Given the description of an element on the screen output the (x, y) to click on. 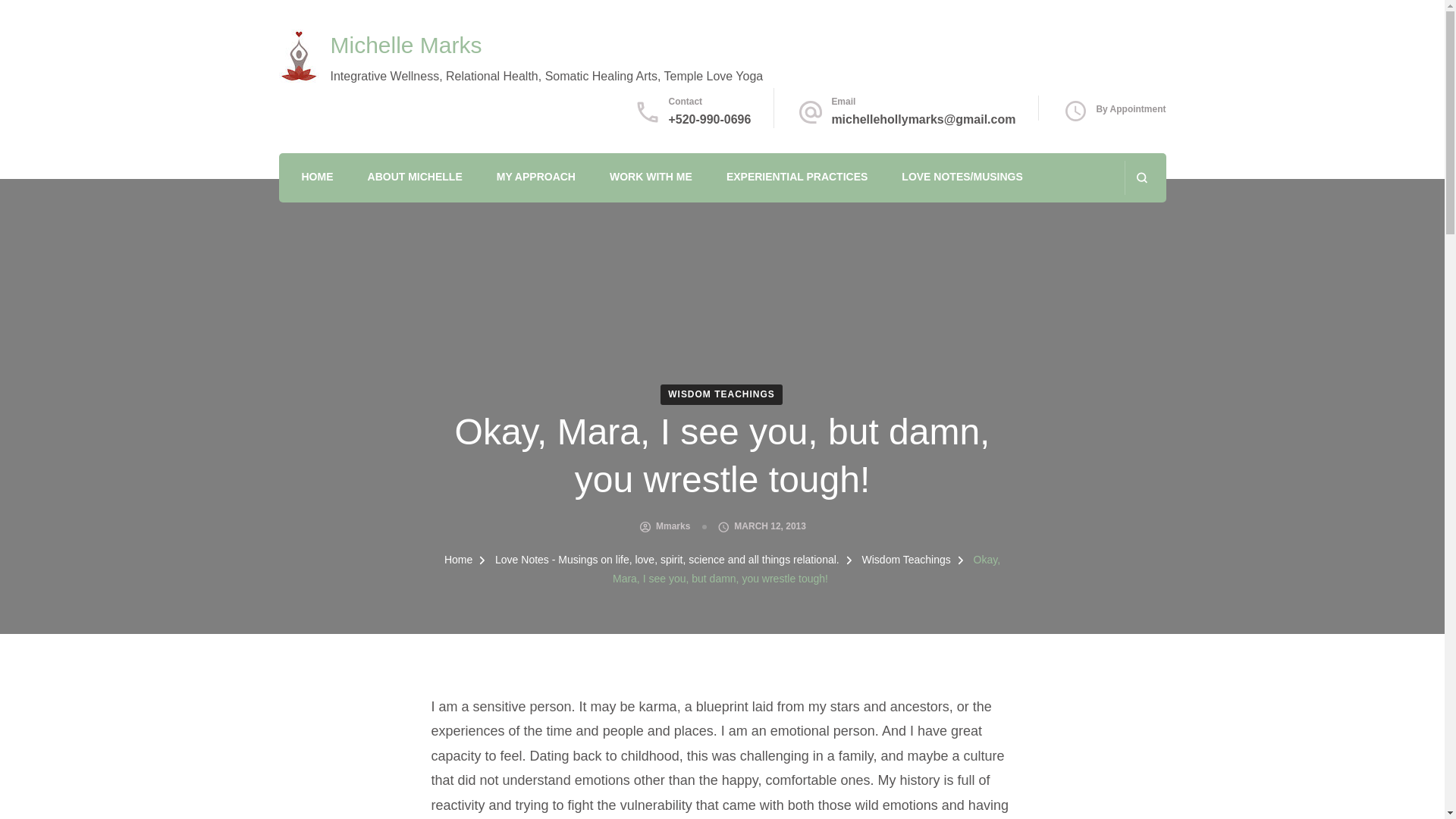
WISDOM TEACHINGS (722, 394)
Mmarks (673, 526)
Michelle Marks (405, 44)
HOME (317, 178)
Wisdom Teachings (907, 559)
WORK WITH ME (651, 178)
ABOUT MICHELLE (415, 178)
Okay, Mara, I see you, but damn, you wrestle tough! (806, 568)
EXPERIENTIAL PRACTICES (796, 178)
Home (457, 559)
MY APPROACH (535, 178)
MARCH 12, 2013 (769, 526)
